Given the description of an element on the screen output the (x, y) to click on. 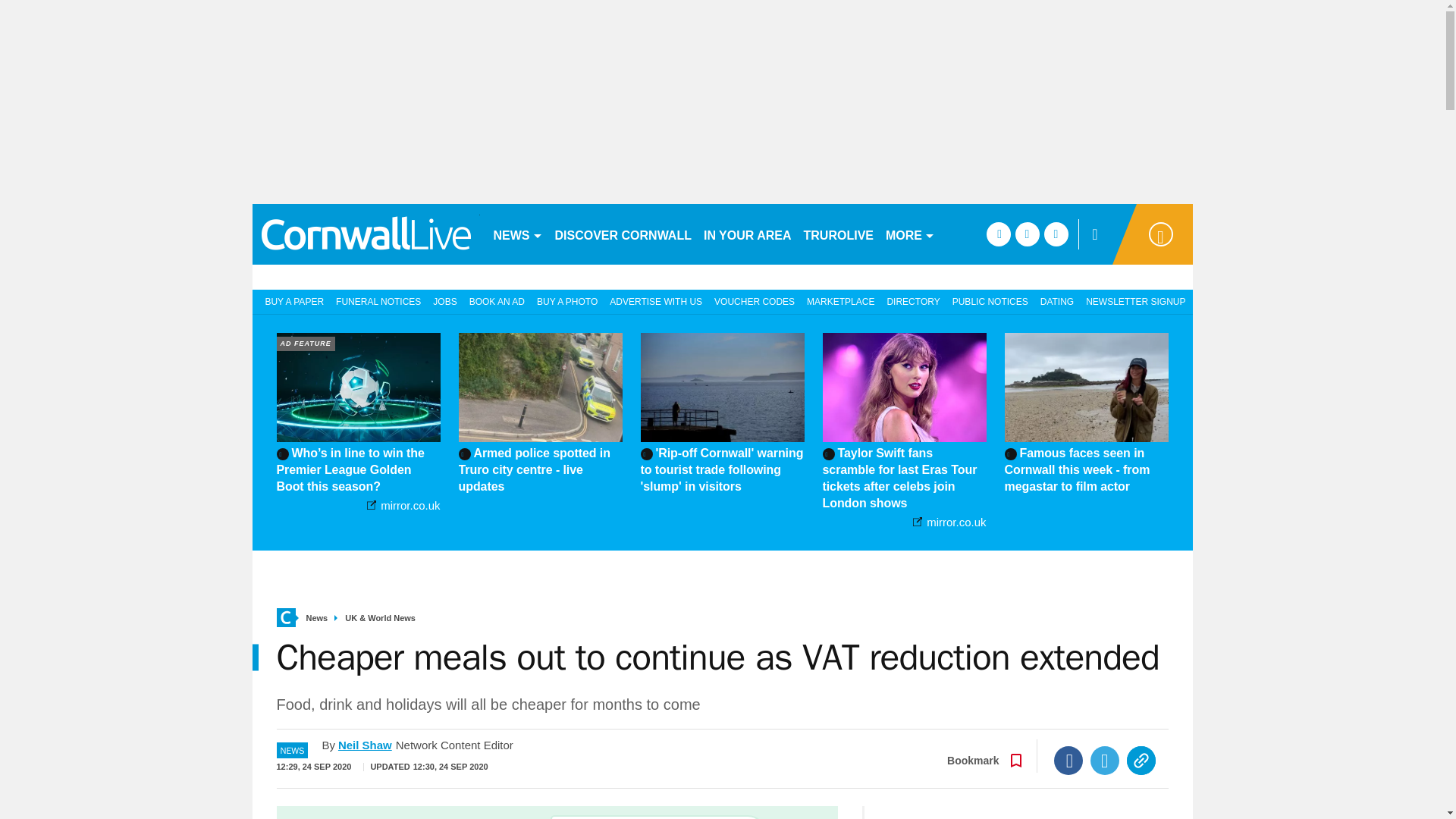
DISCOVER CORNWALL (622, 233)
Twitter (1104, 760)
facebook (997, 233)
cornwalllive (365, 233)
TRUROLIVE (838, 233)
IN YOUR AREA (747, 233)
instagram (1055, 233)
NEWS (517, 233)
twitter (1026, 233)
Facebook (1068, 760)
